Given the description of an element on the screen output the (x, y) to click on. 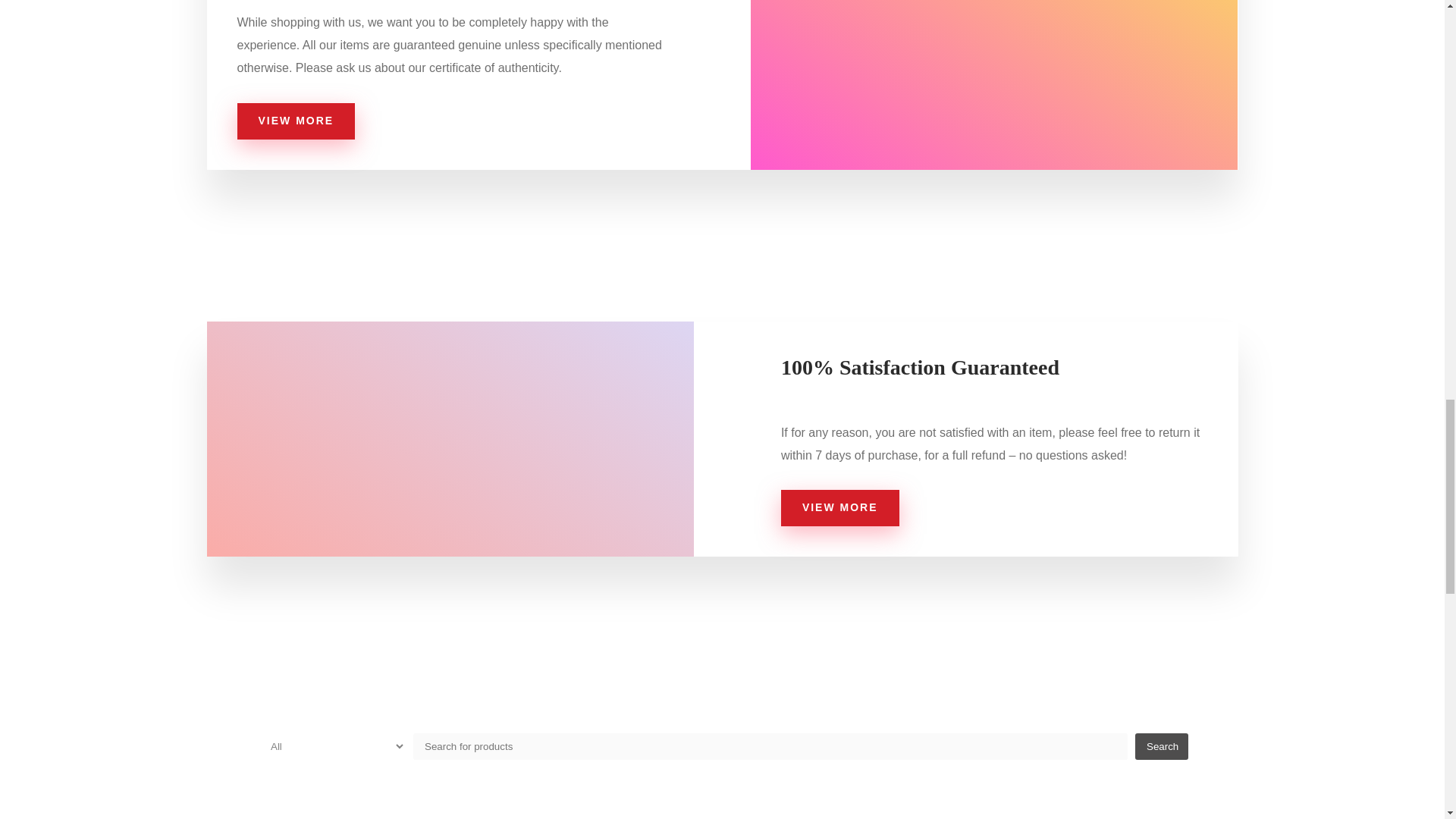
VIEW MORE (839, 507)
Search (1161, 746)
Search (1161, 746)
VIEW MORE (295, 121)
